Given the description of an element on the screen output the (x, y) to click on. 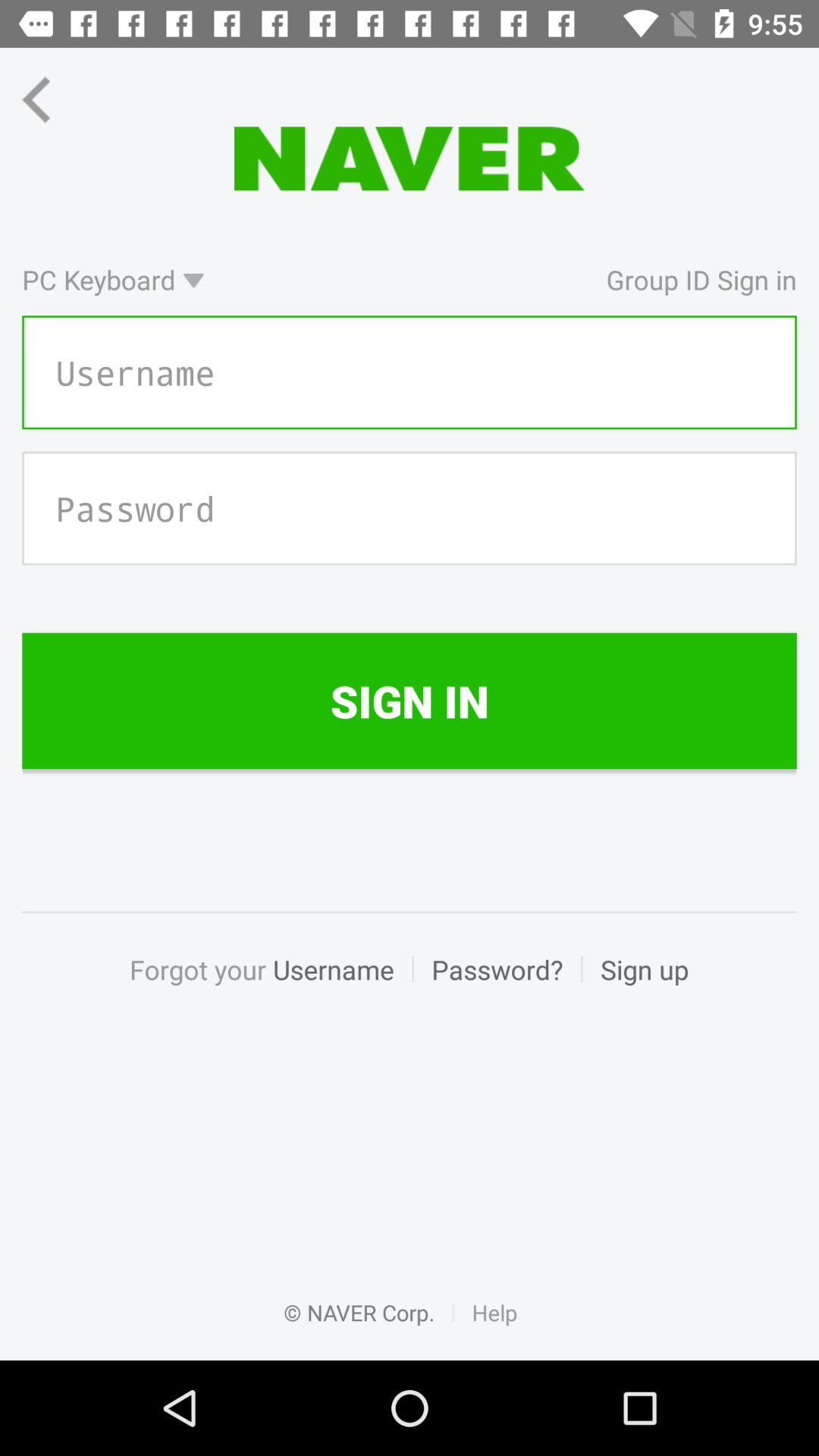
enter username (409, 372)
